Given the description of an element on the screen output the (x, y) to click on. 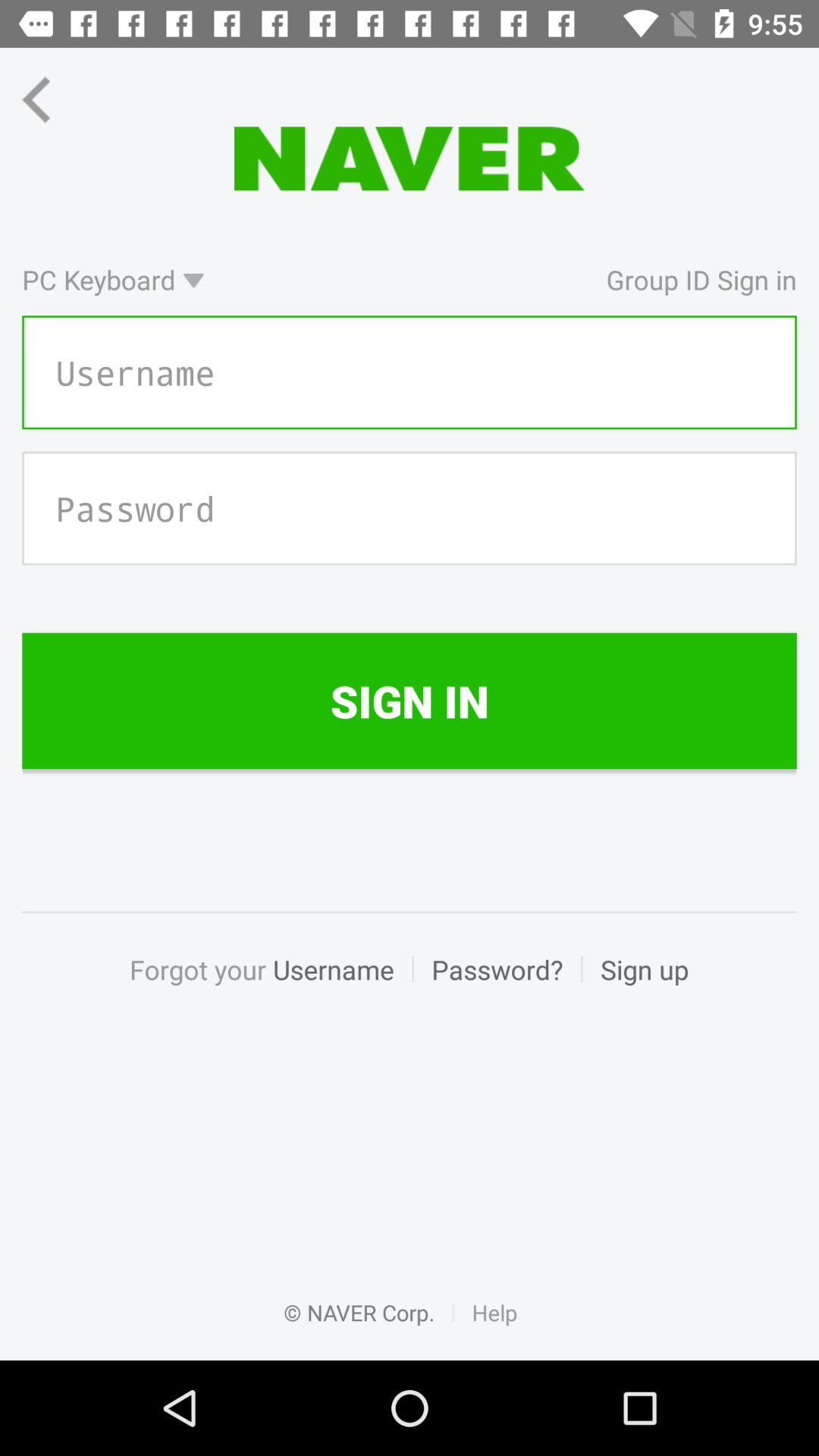
enter username (409, 372)
